Given the description of an element on the screen output the (x, y) to click on. 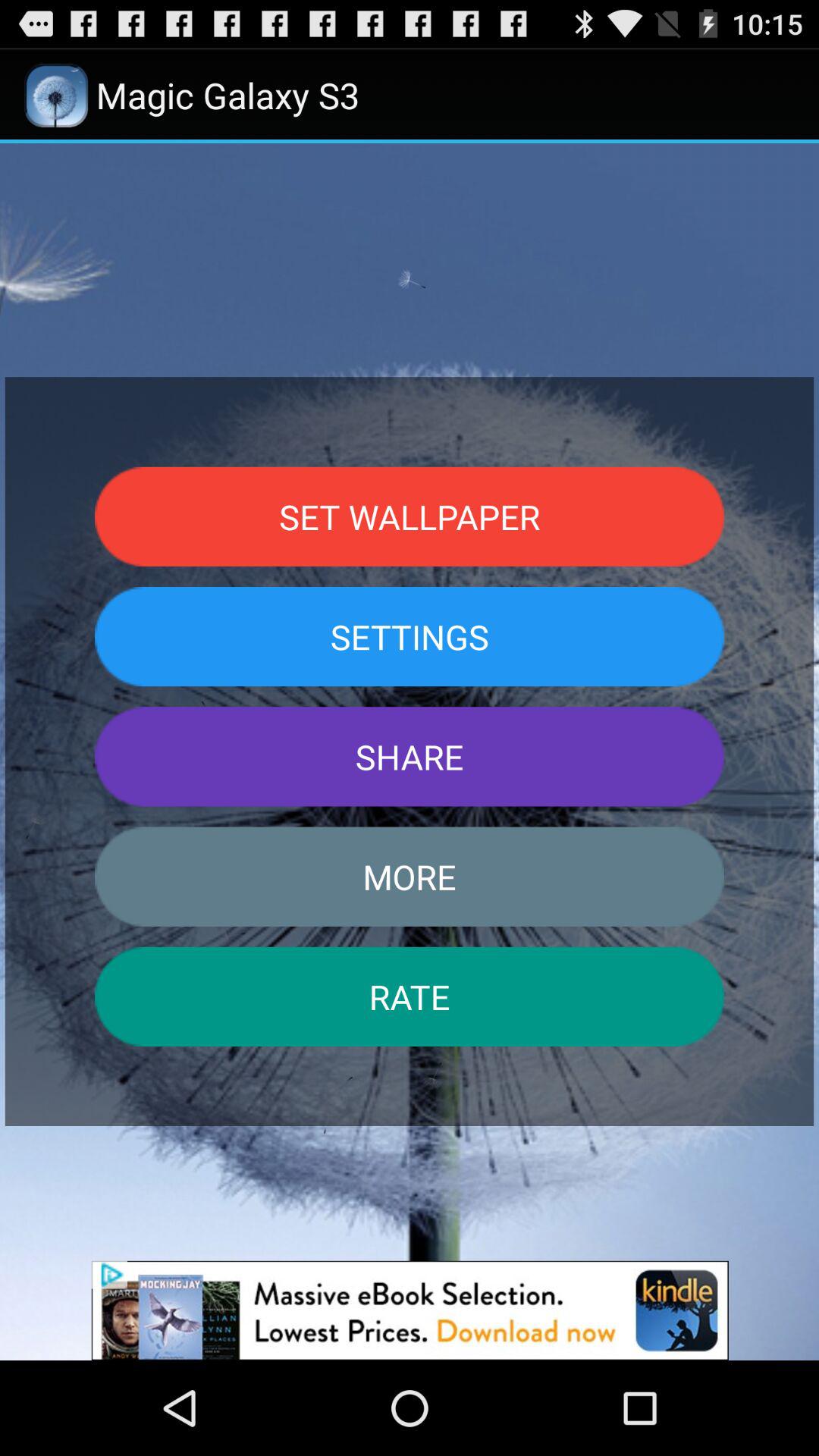
open the item below set wallpaper icon (409, 636)
